Given the description of an element on the screen output the (x, y) to click on. 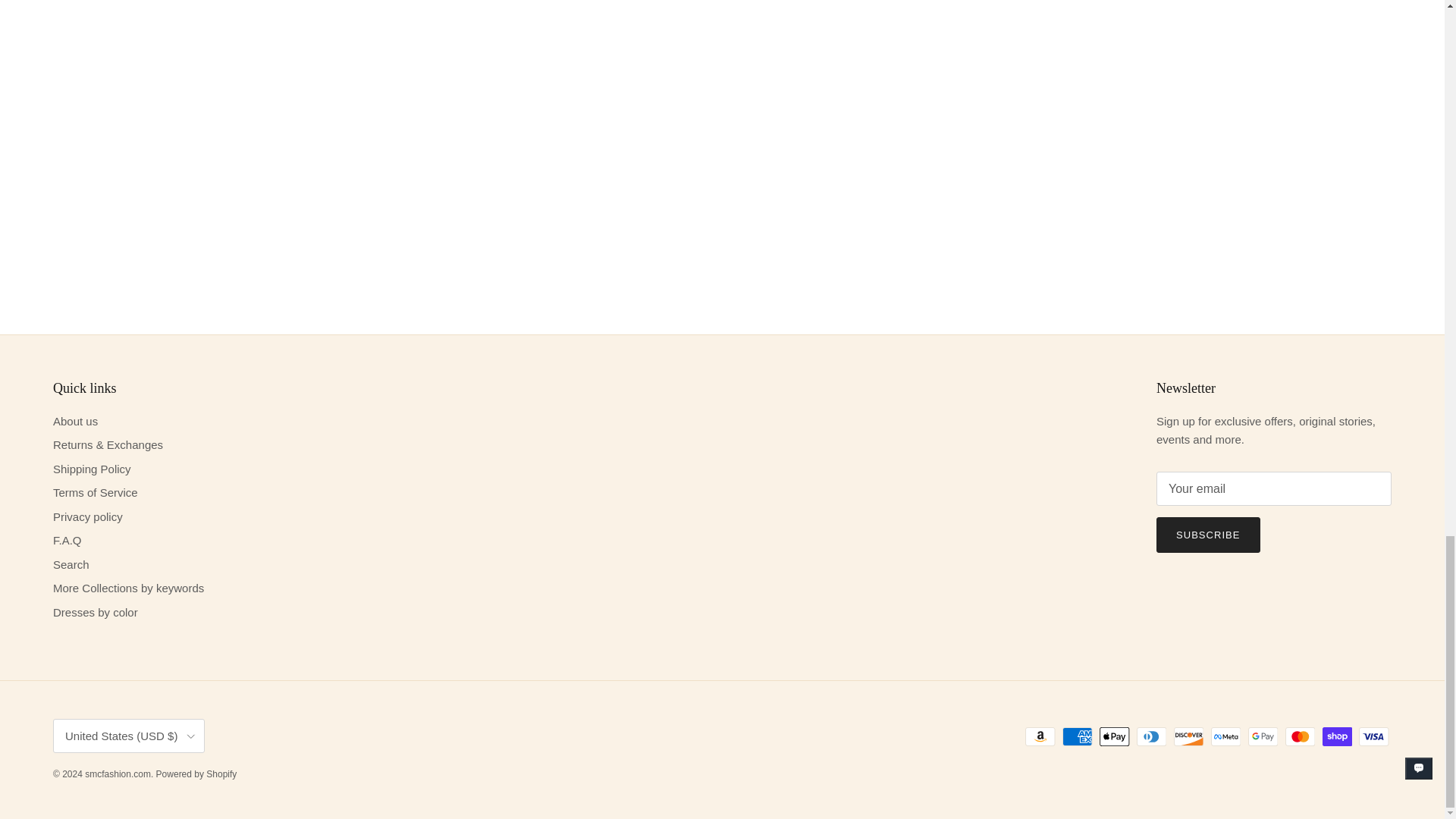
Diners Club (1151, 736)
Apple Pay (1114, 736)
Mastercard (1299, 736)
Shop Pay (1337, 736)
Google Pay (1262, 736)
Visa (1373, 736)
Discover (1188, 736)
American Express (1077, 736)
Amazon (1040, 736)
Meta Pay (1225, 736)
